Given the description of an element on the screen output the (x, y) to click on. 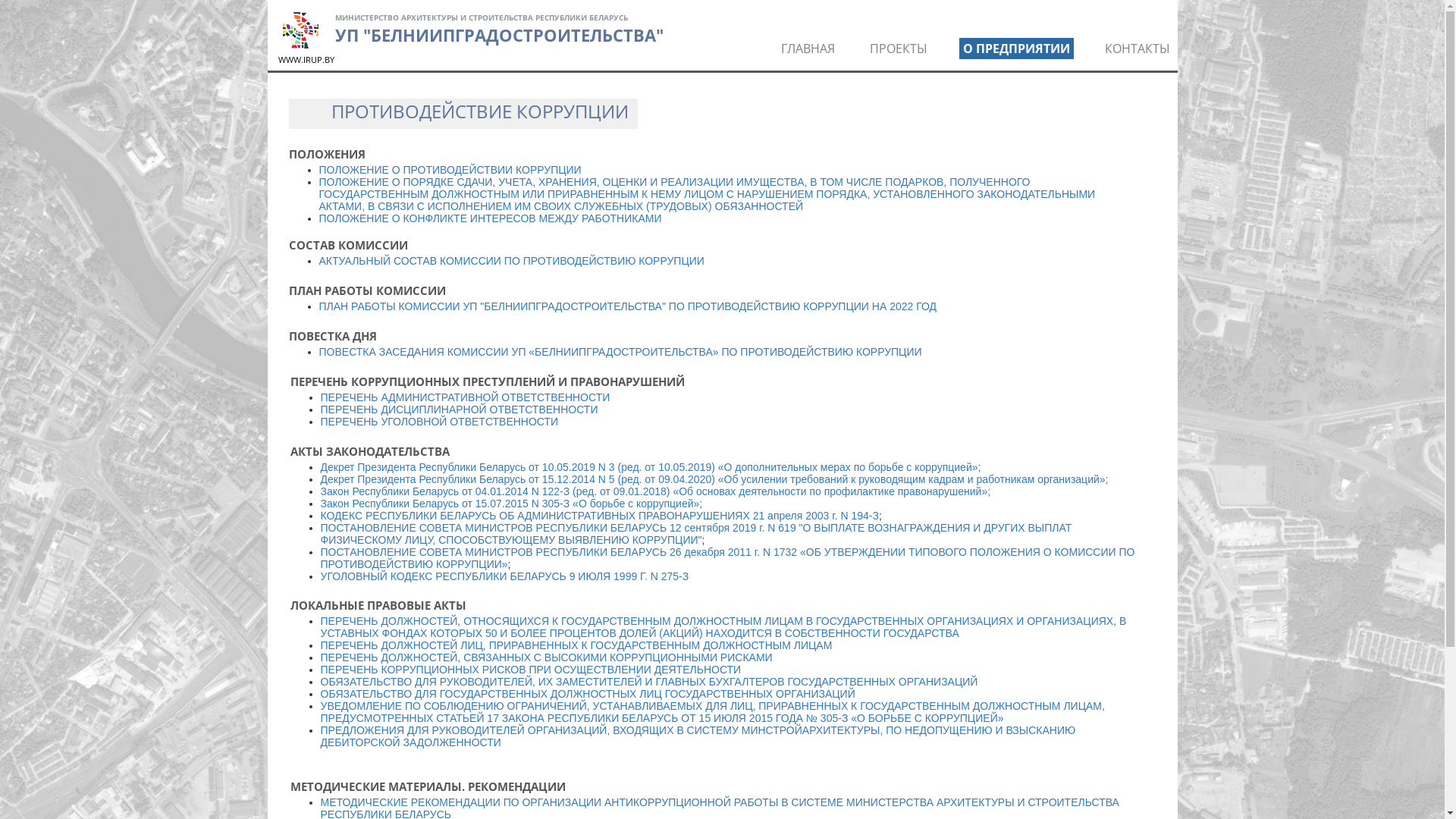
WWW.IRUP.BY Element type: text (305, 59)
www.irup.by Element type: hover (299, 30)
